Given the description of an element on the screen output the (x, y) to click on. 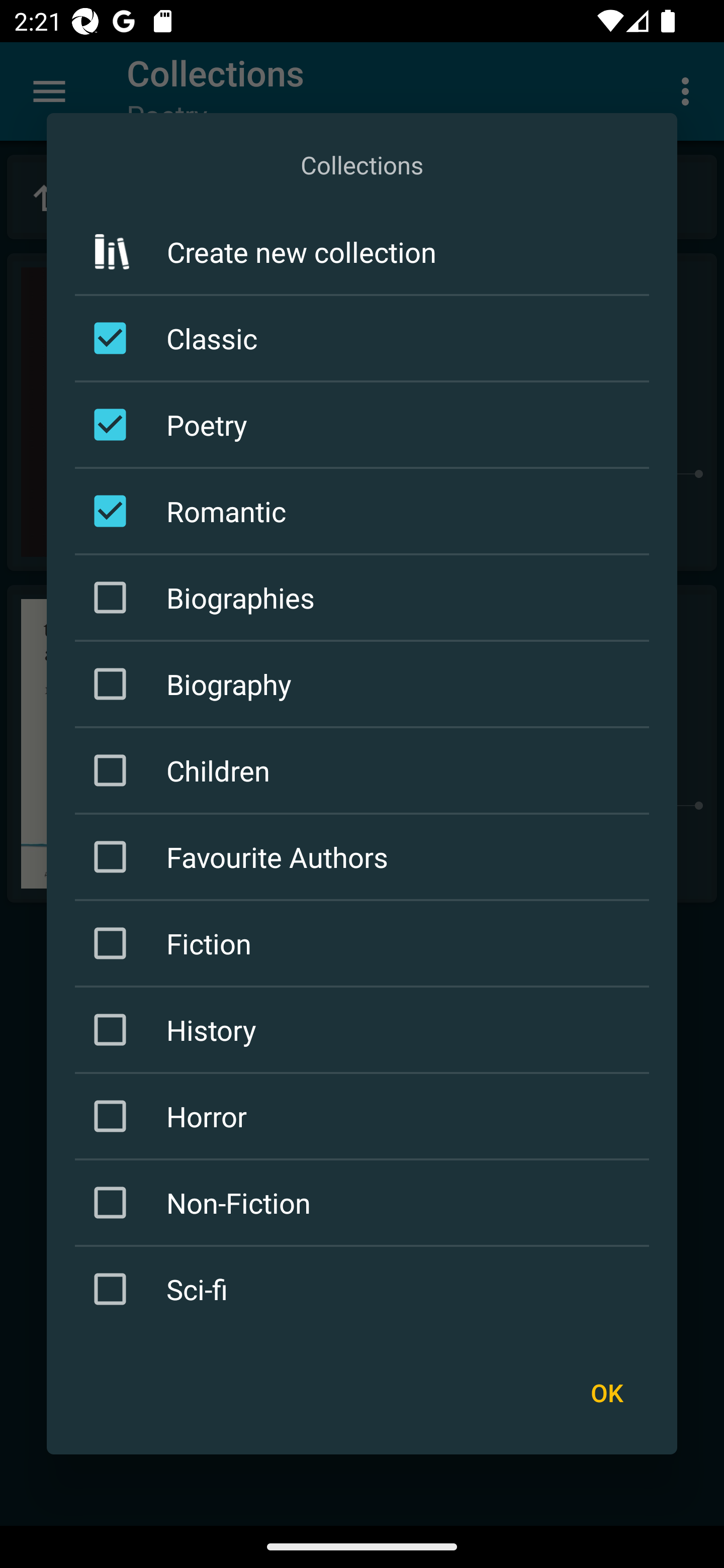
Create new collection (361, 252)
Classic (365, 338)
Poetry (365, 424)
Romantic (365, 510)
Biographies (365, 597)
Biography (365, 683)
Children (365, 769)
Favourite Authors (365, 856)
Fiction (365, 943)
History (365, 1029)
Horror (365, 1116)
Non-Fiction (365, 1202)
Sci-fi (365, 1288)
OK (606, 1392)
